Given the description of an element on the screen output the (x, y) to click on. 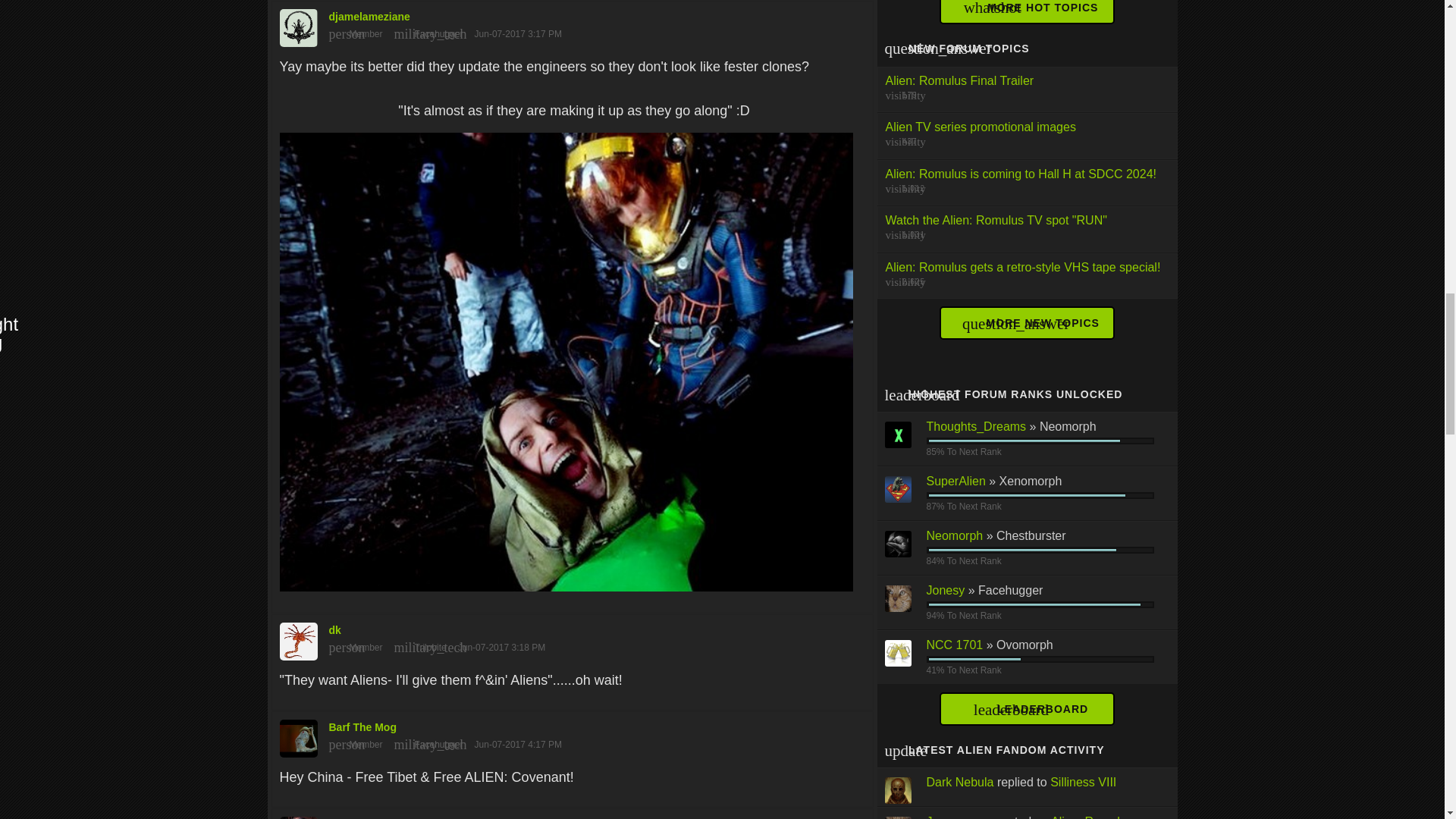
dk (571, 637)
djamelameziane (571, 24)
Barf The Mog (571, 734)
